Given the description of an element on the screen output the (x, y) to click on. 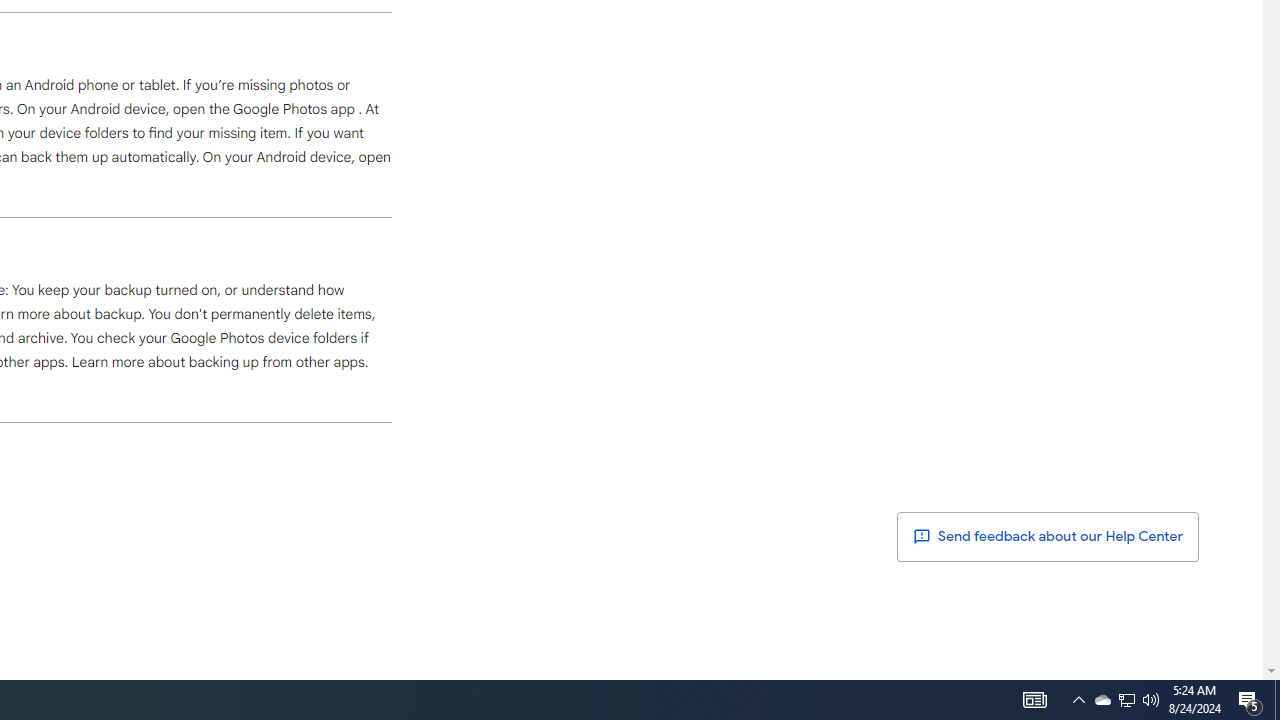
 Send feedback about our Help Center (1048, 536)
